Given the description of an element on the screen output the (x, y) to click on. 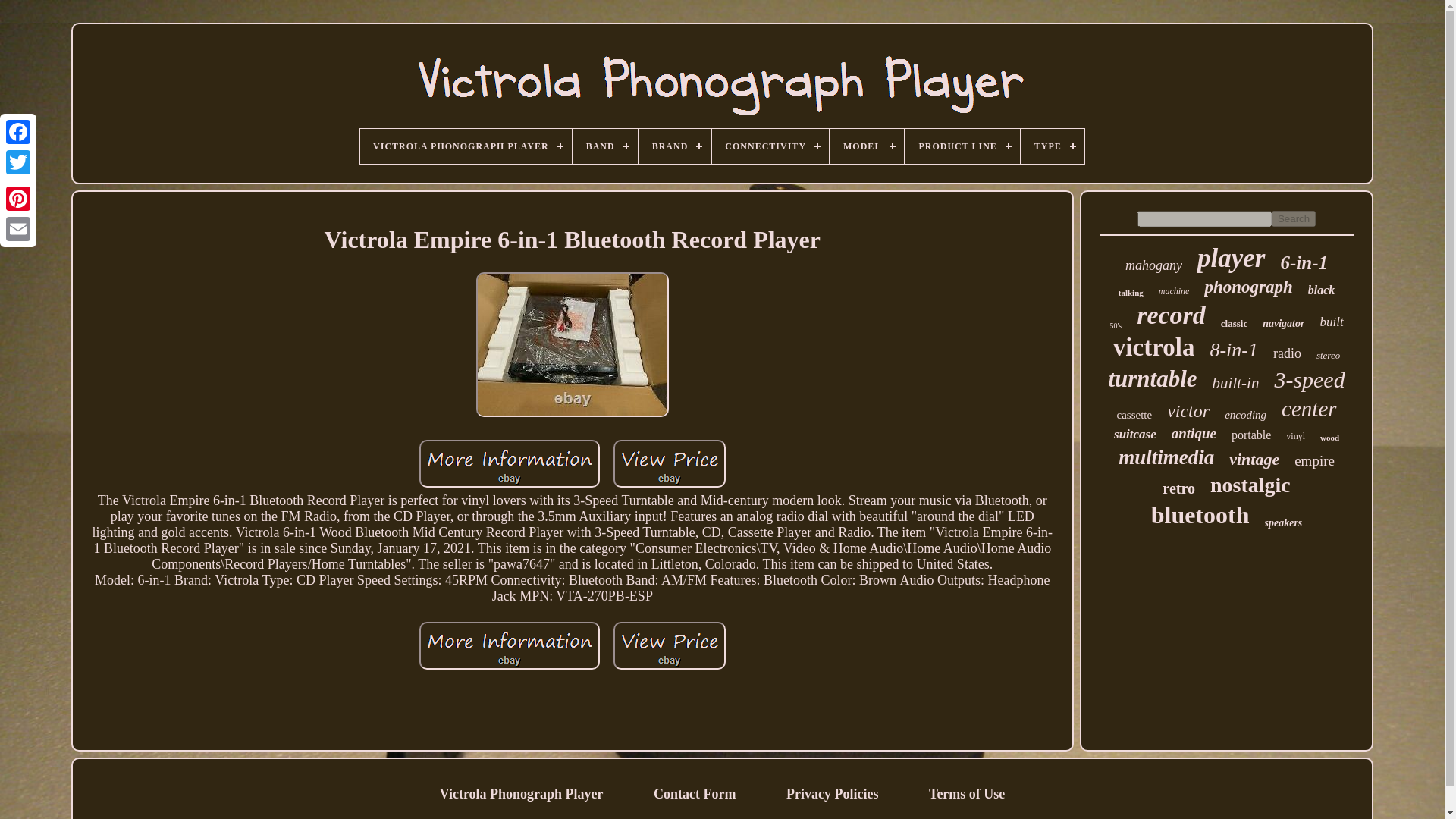
BAND (605, 145)
Victrola Empire 6-in-1 Bluetooth Record Player (668, 463)
Victrola Empire 6-in-1 Bluetooth Record Player (668, 645)
Victrola Empire 6-in-1 Bluetooth Record Player (509, 645)
Victrola Empire 6-in-1 Bluetooth Record Player (572, 343)
Search (1293, 218)
BRAND (675, 145)
VICTROLA PHONOGRAPH PLAYER (465, 145)
CONNECTIVITY (769, 145)
Victrola Empire 6-in-1 Bluetooth Record Player (509, 463)
